Given the description of an element on the screen output the (x, y) to click on. 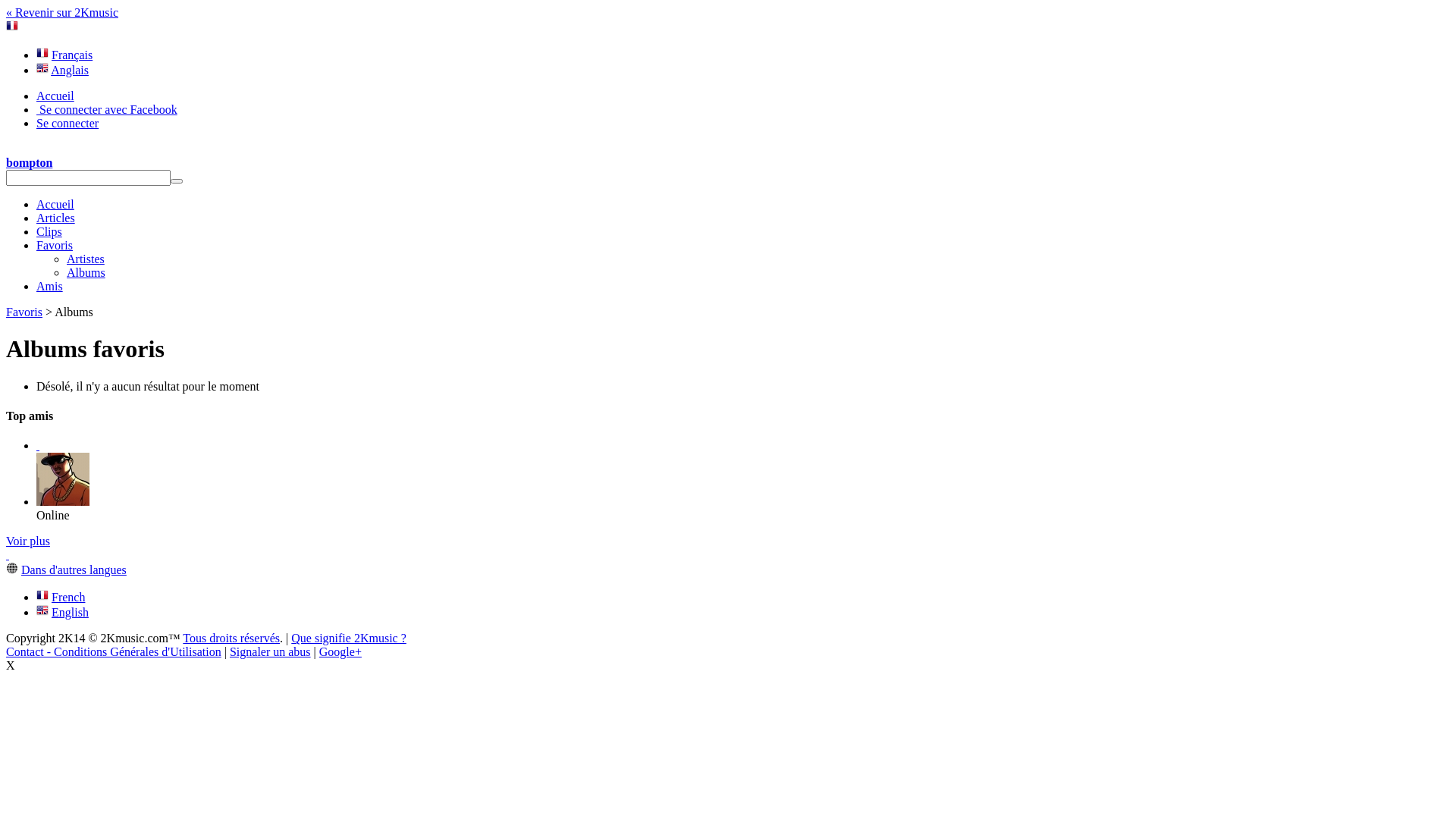
French Element type: text (67, 596)
Favoris Element type: text (54, 244)
Accueil Element type: text (55, 95)
Albums Element type: text (85, 272)
 Se connecter avec Facebook Element type: text (106, 109)
Se connecter Element type: text (67, 122)
Wassup Bruh Element type: hover (62, 501)
Accueil Element type: text (55, 203)
Google+ Element type: text (340, 651)
Anglais Element type: text (69, 69)
Signaler un abus Element type: text (269, 651)
bompton Element type: text (29, 162)
English Element type: text (69, 611)
Amis Element type: text (49, 285)
L3 CHI3N Element type: hover (37, 445)
  Element type: text (7, 554)
Que signifie 2Kmusic ? Element type: text (348, 637)
Articles Element type: text (55, 217)
Voir plus Element type: text (28, 540)
  Element type: text (37, 445)
Dans d'autres langues Element type: text (73, 569)
Favoris Element type: text (24, 311)
Artistes Element type: text (85, 258)
Clips Element type: text (49, 231)
